Given the description of an element on the screen output the (x, y) to click on. 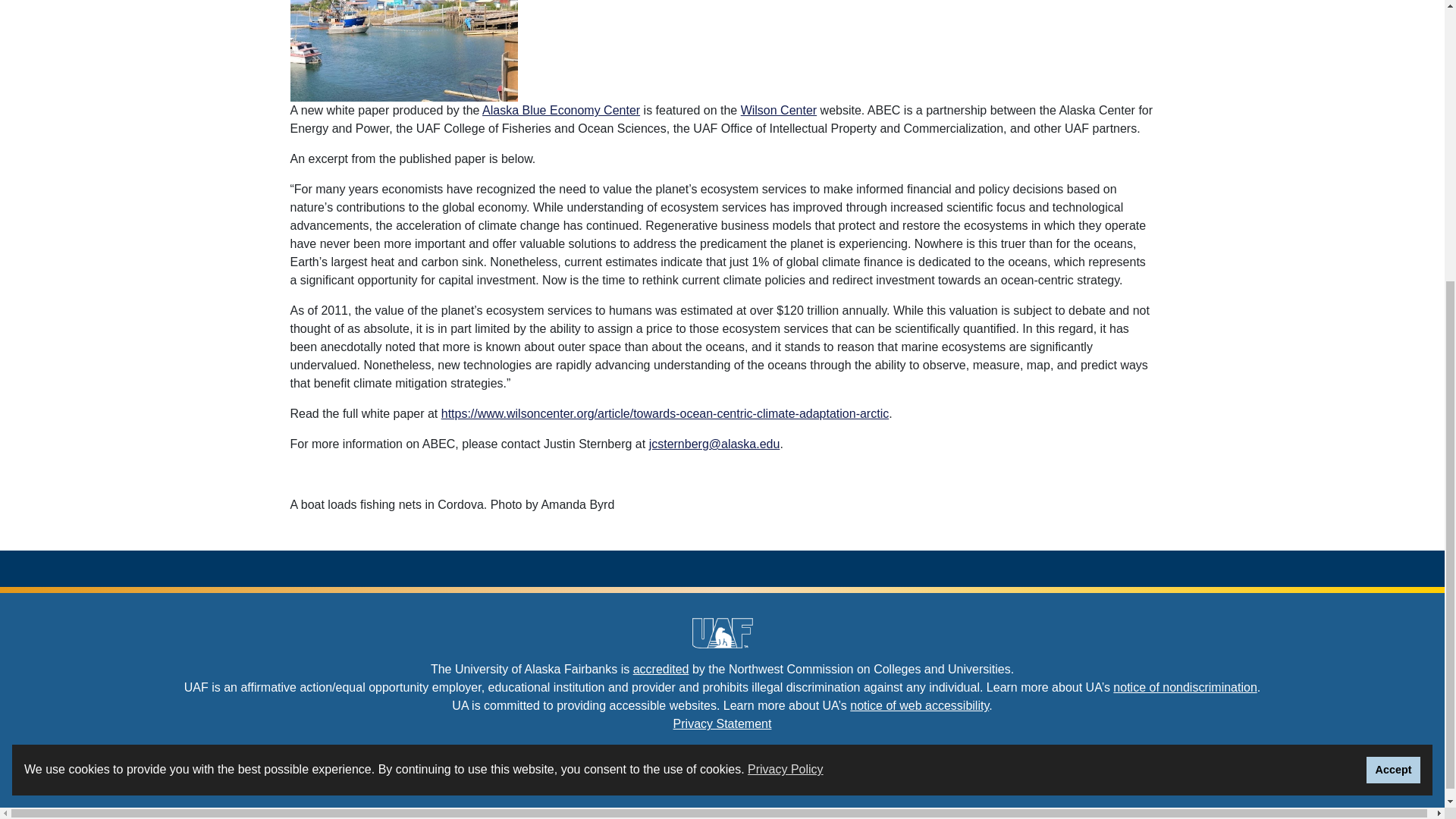
Privacy Policy (786, 339)
Accept (1394, 338)
